Given the description of an element on the screen output the (x, y) to click on. 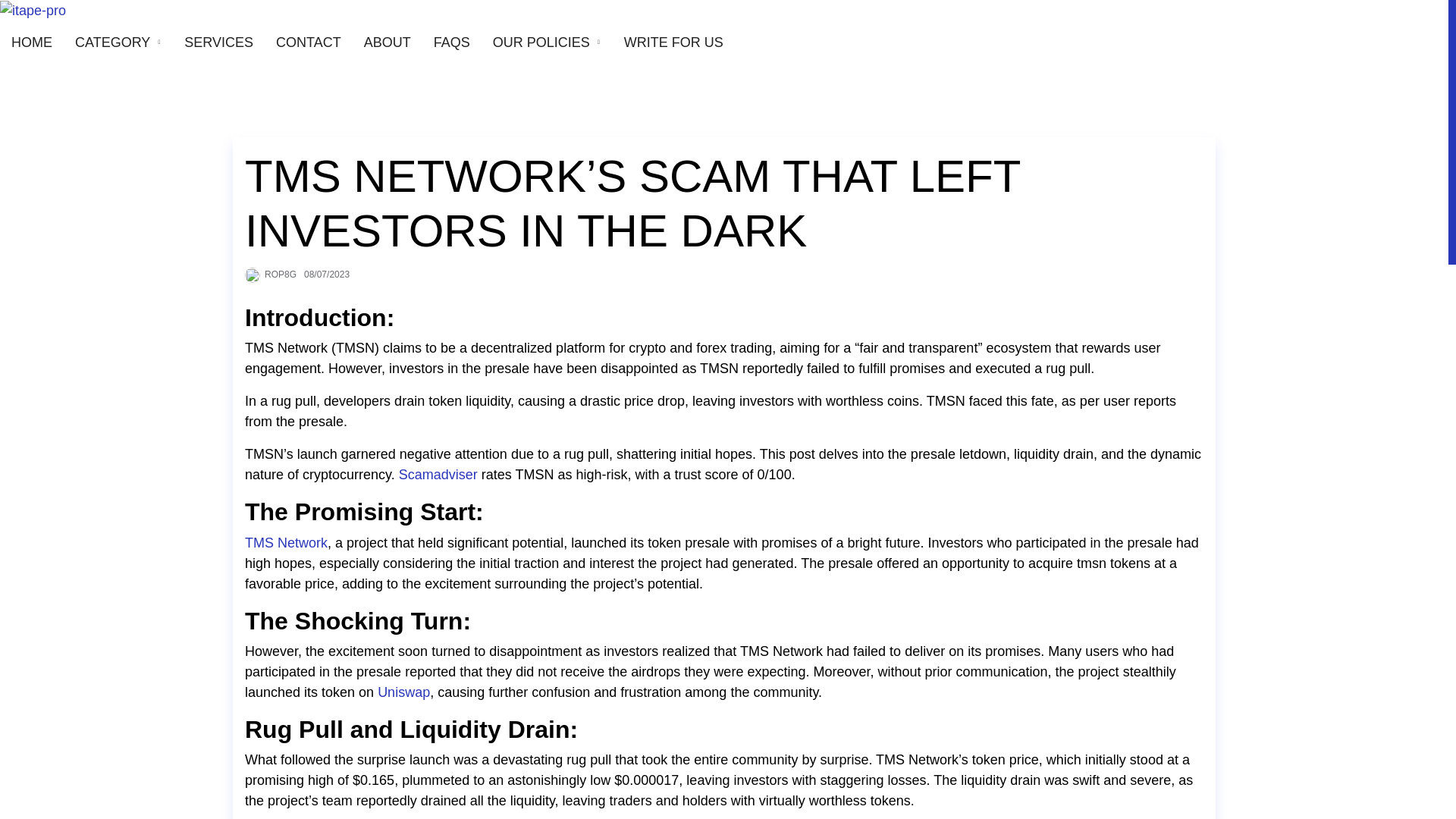
Scamadviser (437, 475)
TMS Network (285, 543)
OUR POLICIES (541, 42)
ABOUT (387, 42)
ROP8G (280, 274)
CATEGORY (112, 42)
SERVICES (218, 42)
FAQS (451, 42)
Uniswap (403, 692)
CONTACT (308, 42)
WRITE FOR US (673, 42)
HOME (32, 42)
